Given the description of an element on the screen output the (x, y) to click on. 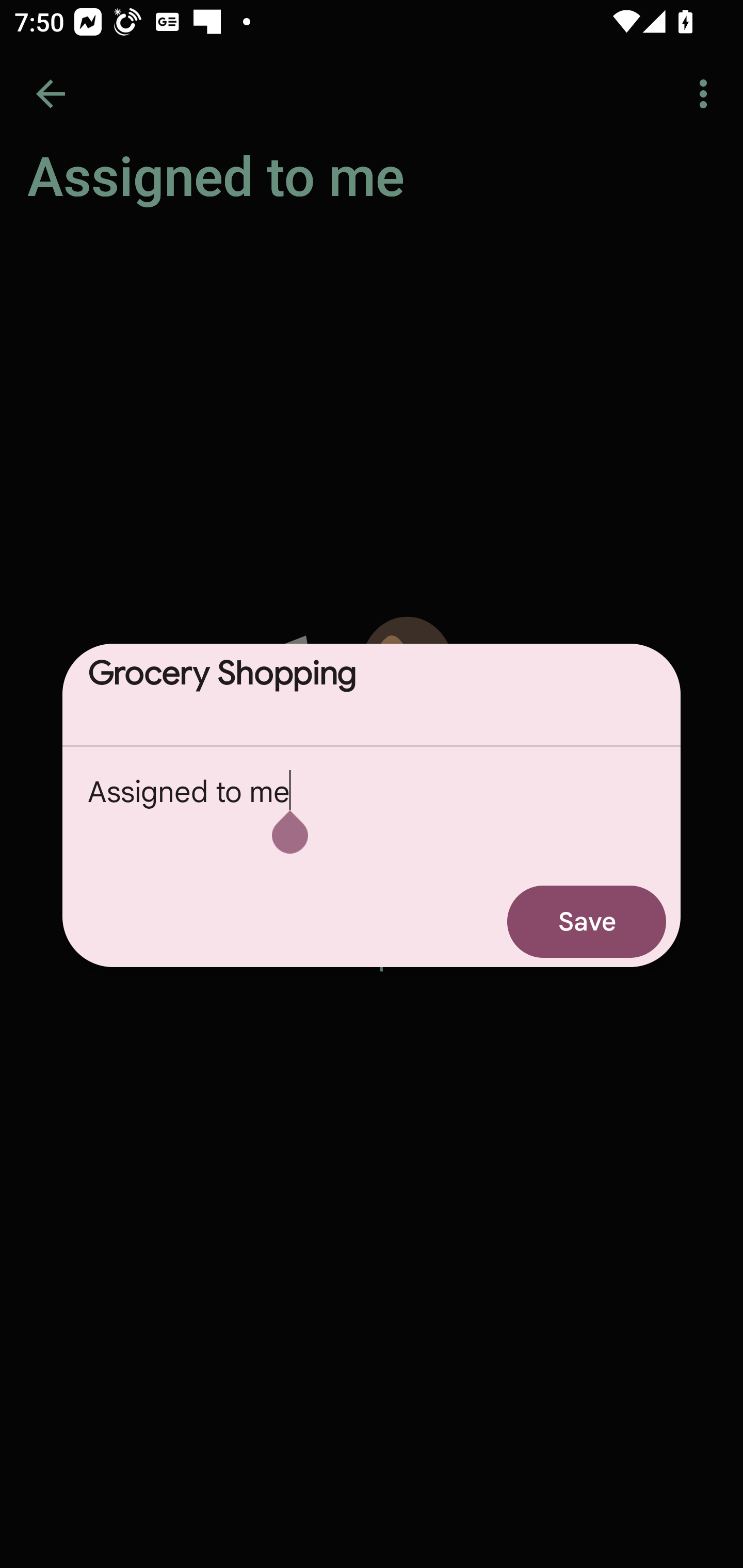
Grocery Shopping
 (371, 694)
Assigned to me
 (371, 811)
Save (586, 921)
